Given the description of an element on the screen output the (x, y) to click on. 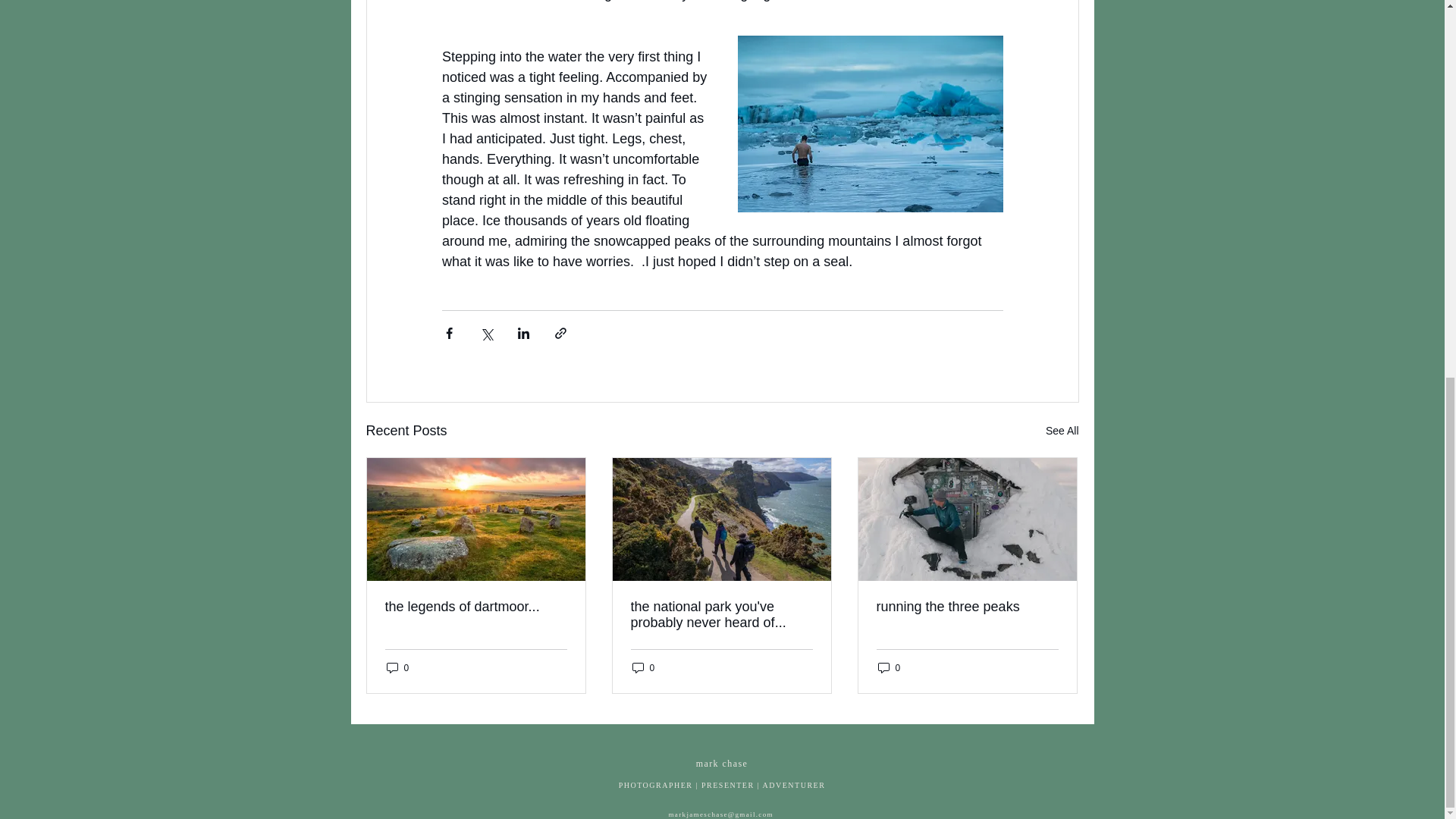
the national park you've probably never heard of... (721, 614)
the legends of dartmoor... (476, 606)
running the three peaks (967, 606)
See All (1061, 431)
0 (889, 667)
0 (397, 667)
0 (643, 667)
